Given the description of an element on the screen output the (x, y) to click on. 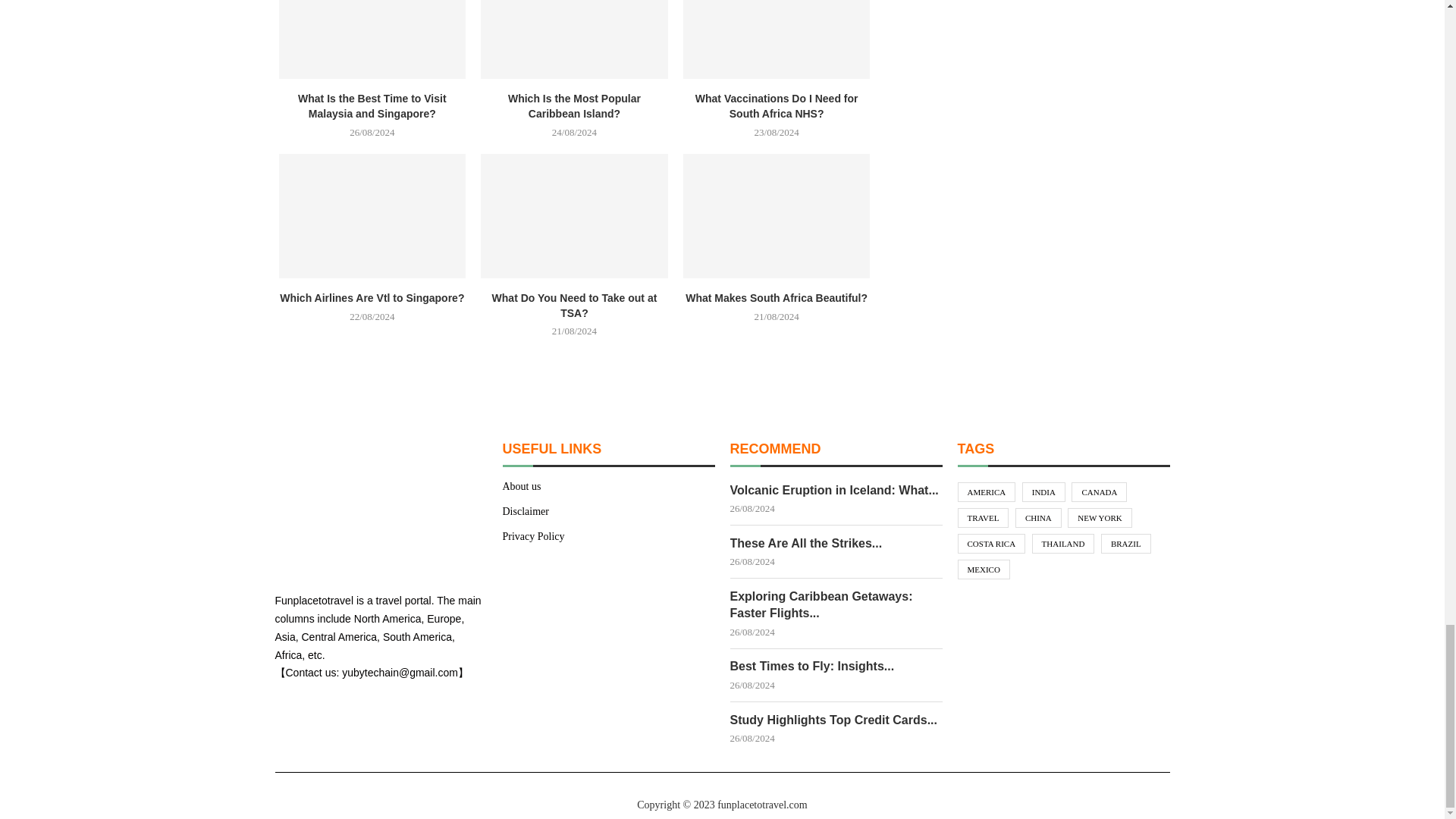
What Vaccinations Do I Need for South Africa NHS? (776, 39)
What Is the Best Time to Visit Malaysia and Singapore? (372, 39)
Which Airlines Are Vtl to Singapore? (372, 215)
Which Is the Most Popular Caribbean Island? (574, 39)
What Makes South Africa Beautiful? (776, 215)
What Do You Need to Take out at TSA? (574, 215)
